Given the description of an element on the screen output the (x, y) to click on. 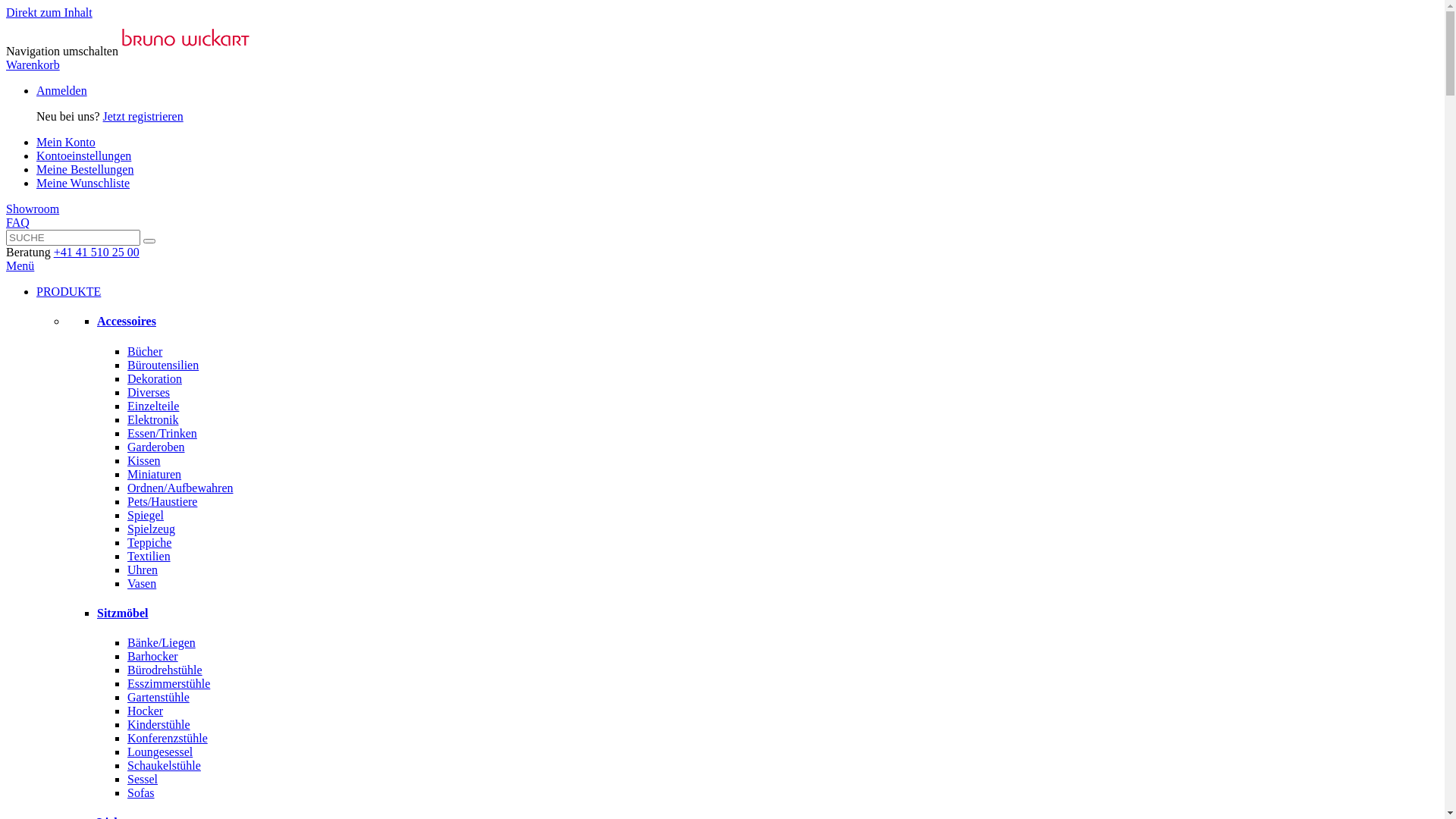
Garderoben Element type: text (156, 446)
Teppiche Element type: text (149, 542)
Direkt zum Inhalt Element type: text (49, 12)
Einzelteile Element type: text (152, 405)
Bruno Wickart Online AG Element type: hover (185, 50)
Ordnen/Aufbewahren Element type: text (180, 487)
Vasen Element type: text (141, 583)
Elektronik Element type: text (152, 419)
Pets/Haustiere Element type: text (162, 501)
Jetzt registrieren Element type: text (143, 115)
Diverses Element type: text (148, 391)
Sessel Element type: text (142, 778)
Hocker Element type: text (145, 710)
Kissen Element type: text (143, 460)
Kontoeinstellungen Element type: text (83, 155)
Miniaturen Element type: text (154, 473)
Accessoires Element type: text (126, 320)
Sofas Element type: text (140, 792)
Showroom Element type: text (32, 208)
Barhocker Element type: text (152, 655)
Textilien Element type: text (148, 555)
+41 41 510 25 00 Element type: text (96, 251)
FAQ Element type: text (17, 222)
Essen/Trinken Element type: text (162, 432)
Loungesessel Element type: text (159, 751)
Spiegel Element type: text (145, 514)
Uhren Element type: text (142, 569)
Warenkorb Element type: text (32, 64)
PRODUKTE Element type: text (68, 291)
Meine Wunschliste Element type: text (82, 182)
Meine Bestellungen Element type: text (84, 169)
Anmelden Element type: text (61, 90)
Mein Konto Element type: text (65, 141)
Bruno Wickart Online AG Element type: hover (185, 37)
Dekoration Element type: text (154, 378)
Spielzeug Element type: text (151, 528)
